Given the description of an element on the screen output the (x, y) to click on. 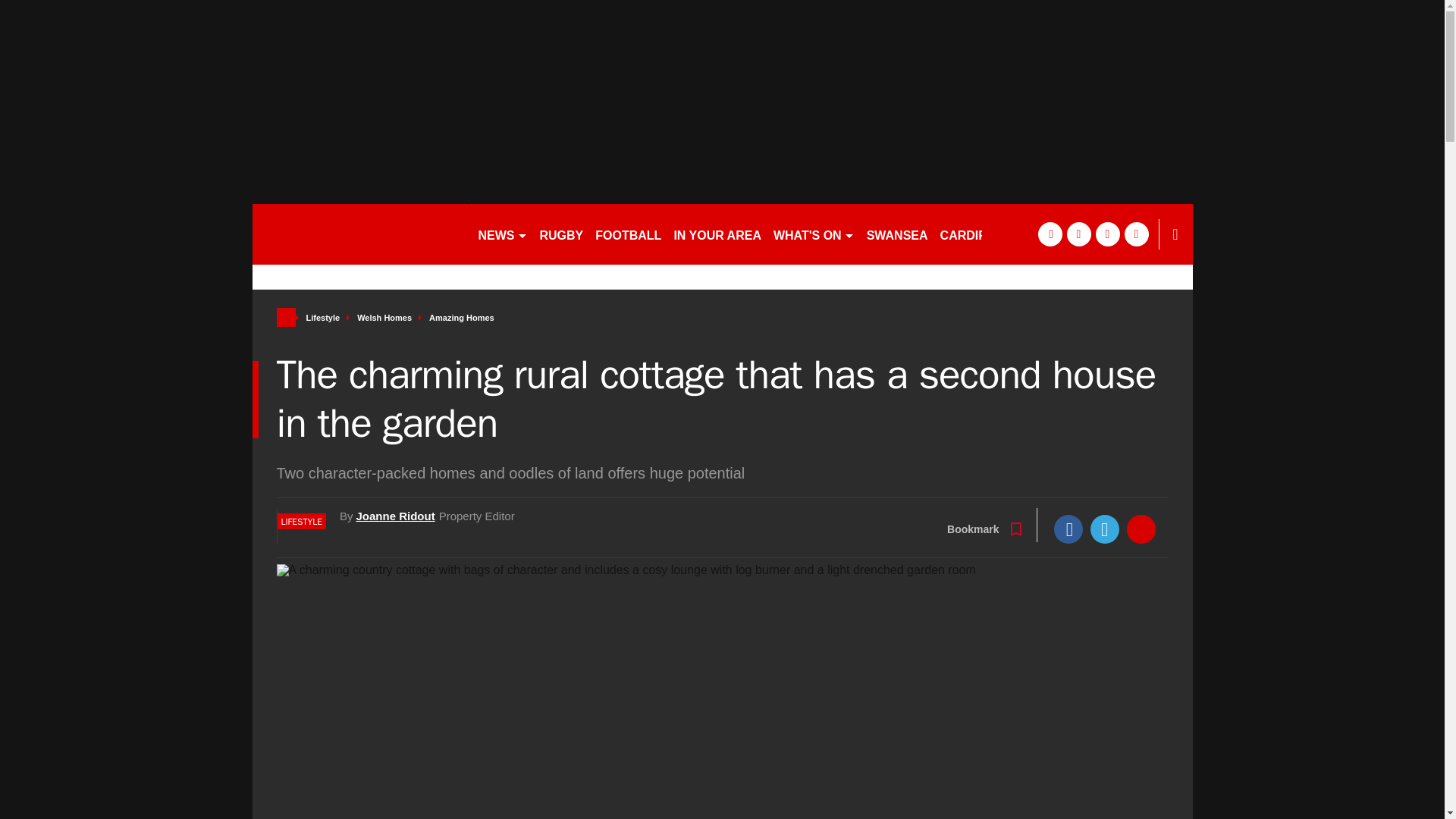
walesonline (357, 233)
IN YOUR AREA (716, 233)
twitter (1077, 233)
instagram (1136, 233)
facebook (1048, 233)
FOOTBALL (627, 233)
RUGBY (561, 233)
Facebook (1068, 529)
NEWS (501, 233)
WHAT'S ON (813, 233)
